Given the description of an element on the screen output the (x, y) to click on. 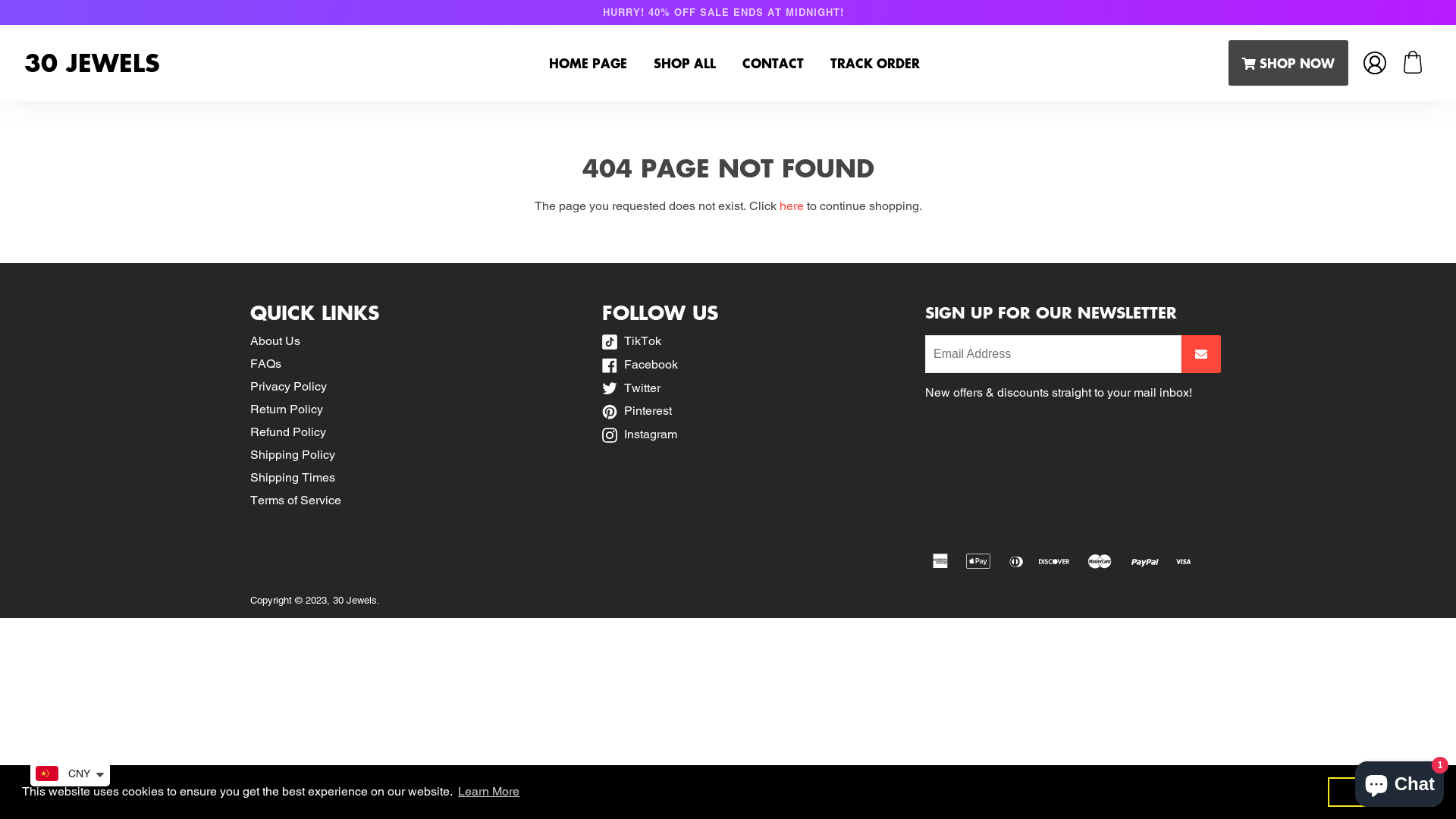
Return Policy Element type: text (286, 408)
SHOP ALL Element type: text (684, 62)
Privacy Policy Element type: text (288, 386)
Shipping Times Element type: text (292, 477)
Refund Policy Element type: text (288, 431)
FAQs Element type: text (265, 363)
TRACK ORDER Element type: text (874, 62)
30 JEWELS Element type: text (254, 63)
TikTok Element type: text (631, 340)
CONTACT Element type: text (772, 62)
Shopify online store chat Element type: hover (1399, 780)
Facebook Element type: text (639, 364)
Pinterest Element type: text (636, 410)
30 Jewels Element type: text (354, 605)
Terms of Service Element type: text (295, 499)
HOME PAGE Element type: text (587, 62)
here Element type: text (791, 205)
SHOP NOW Element type: text (1288, 62)
Learn More Element type: text (488, 791)
Shipping Policy Element type: text (292, 454)
Got it! Element type: text (1380, 791)
About Us Element type: text (275, 340)
Instagram Element type: text (639, 433)
Twitter Element type: text (631, 387)
